Given the description of an element on the screen output the (x, y) to click on. 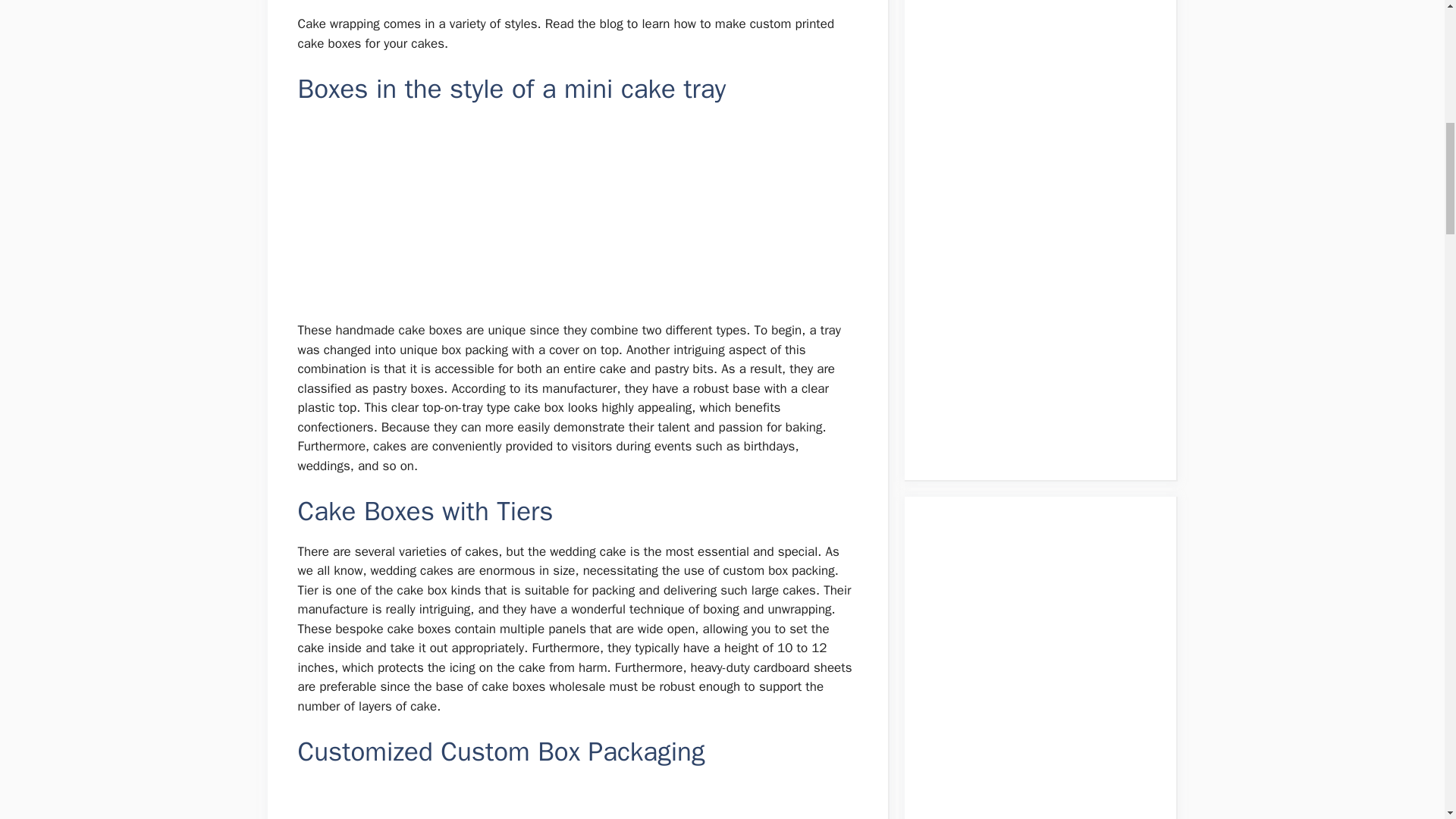
Advertisement (577, 800)
Scroll back to top (1406, 720)
Advertisement (577, 214)
